Given the description of an element on the screen output the (x, y) to click on. 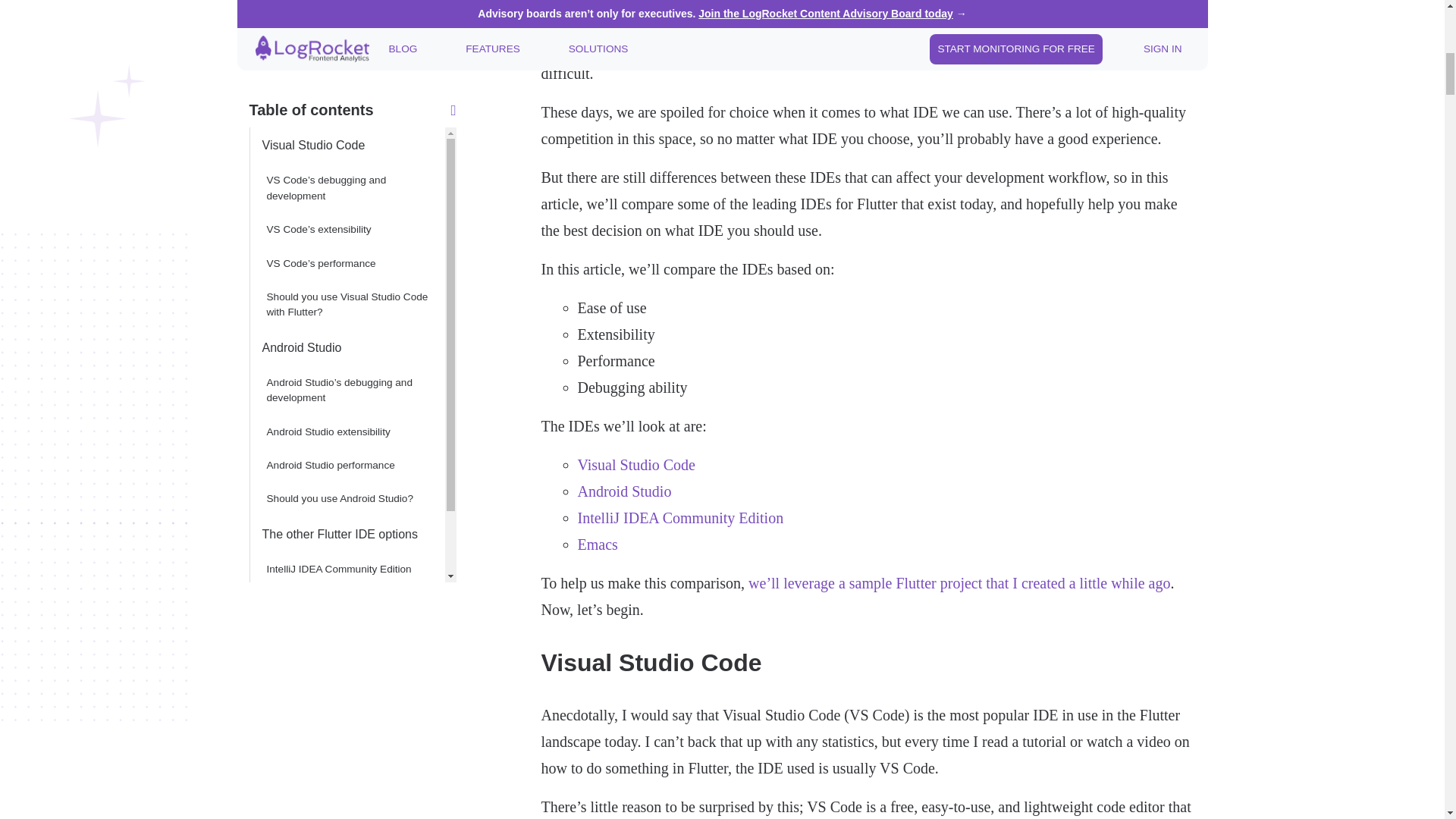
Android Studio (624, 491)
Visual Studio Code (636, 464)
Emacs (597, 544)
Emacs (346, 40)
Conclusion (346, 75)
IntelliJ IDEA Community Edition (346, 12)
IntelliJ IDEA Community Edition (681, 517)
